Given the description of an element on the screen output the (x, y) to click on. 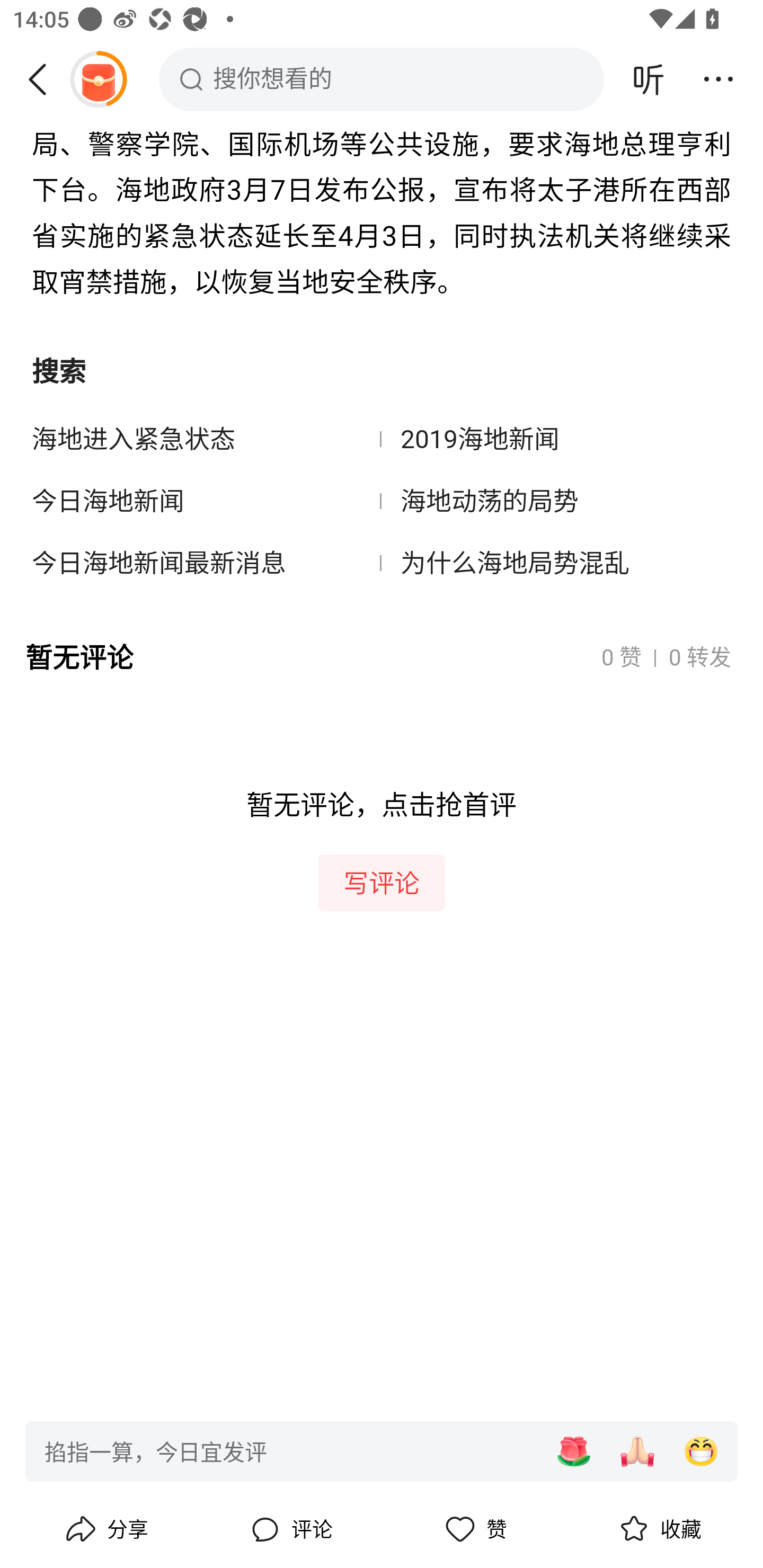
返回 (44, 78)
听头条 (648, 78)
更多操作 (718, 78)
搜你想看的 搜索框，搜你想看的 (381, 79)
阅读赚金币 (98, 79)
2019海地新闻 (555, 439)
今日海地新闻 (206, 501)
海地动荡的局势 (555, 501)
今日海地新闻最新消息 (206, 562)
为什么海地局势混乱 (555, 562)
暂无评论，点击抢首评 (381, 864)
掐指一算，今日宜发评 [玫瑰] [祈祷] [呲牙] (381, 1449)
[玫瑰] (573, 1451)
[祈祷] (636, 1451)
[呲牙] (700, 1451)
分享 (104, 1529)
评论, 评论 (288, 1529)
,收藏 收藏 (658, 1529)
